Given the description of an element on the screen output the (x, y) to click on. 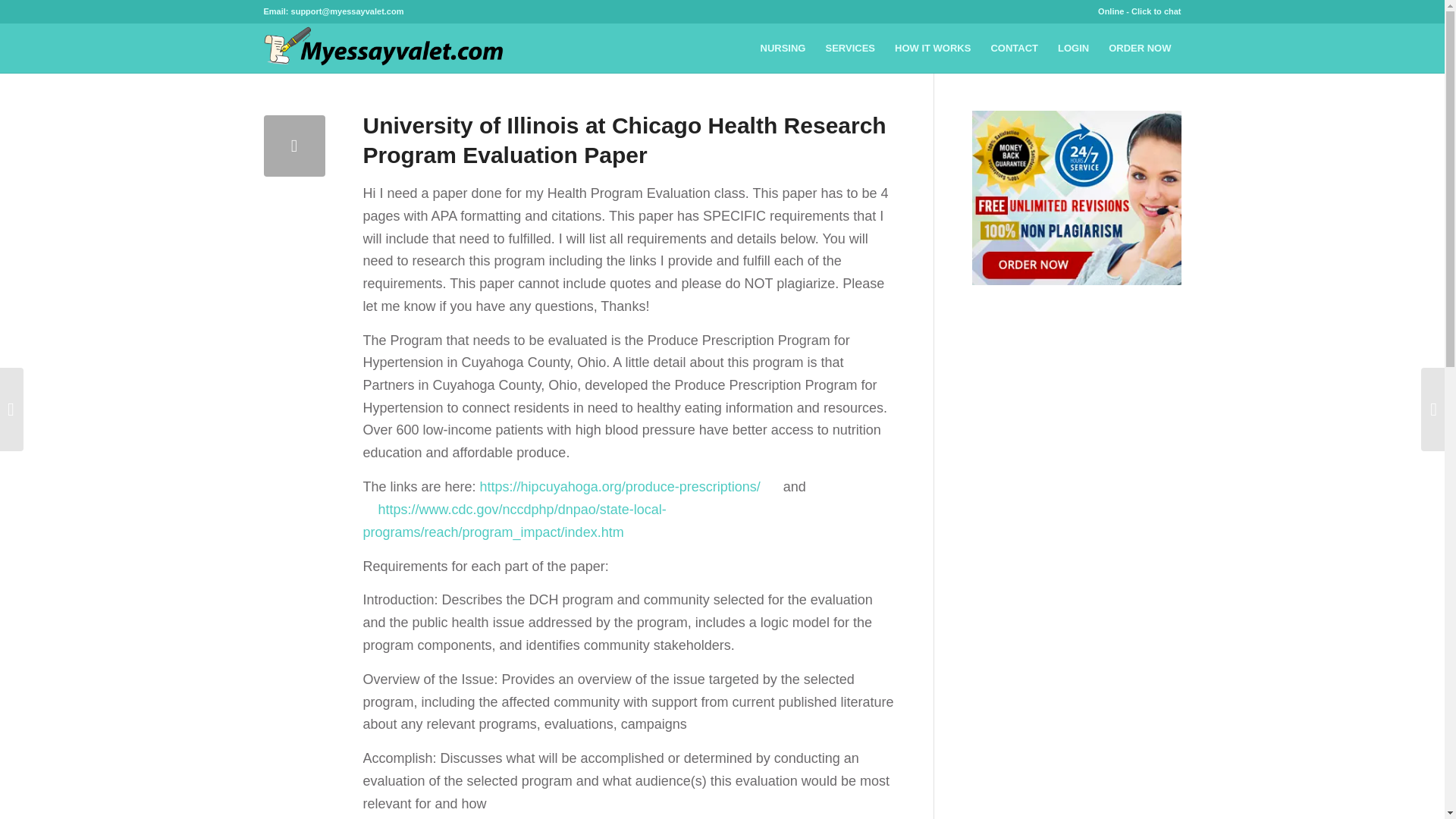
SERVICES (850, 47)
NURSING (783, 47)
Online - Click to chat (1138, 10)
HOW IT WORKS (932, 47)
LOGIN (1073, 47)
CONTACT (1013, 47)
ORDER NOW (1139, 47)
logoMEV (387, 47)
